Given the description of an element on the screen output the (x, y) to click on. 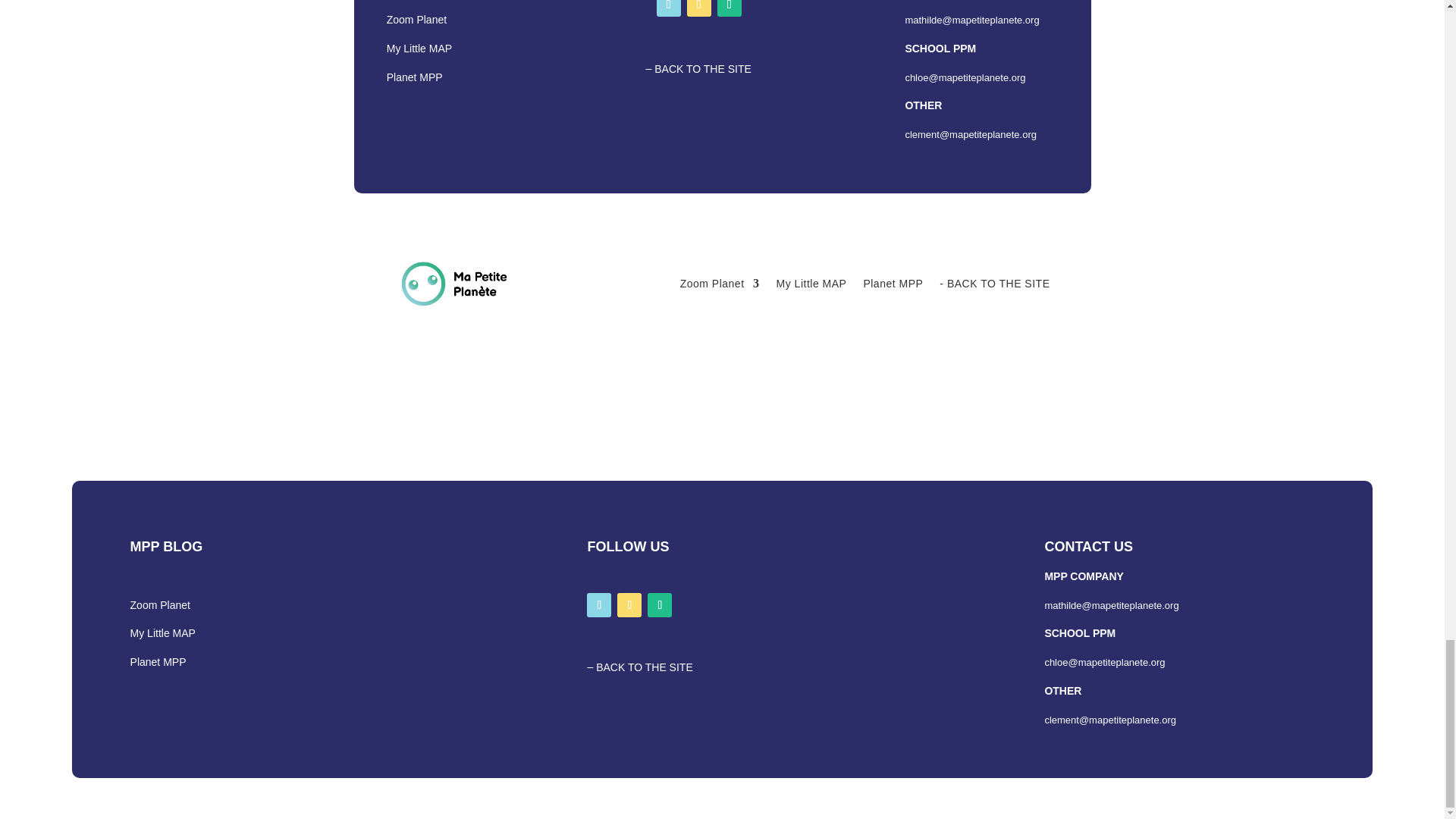
Follow on Instagram (729, 8)
My Little MAP (419, 48)
Zoom Planet (719, 283)
Follow on Facebook (668, 8)
My Little MAP (811, 283)
Follow on LinkedIn (699, 8)
Zoom Planet (416, 19)
Planet MPP (414, 77)
Zoom Planet (416, 19)
My Little MAP (419, 48)
